Given the description of an element on the screen output the (x, y) to click on. 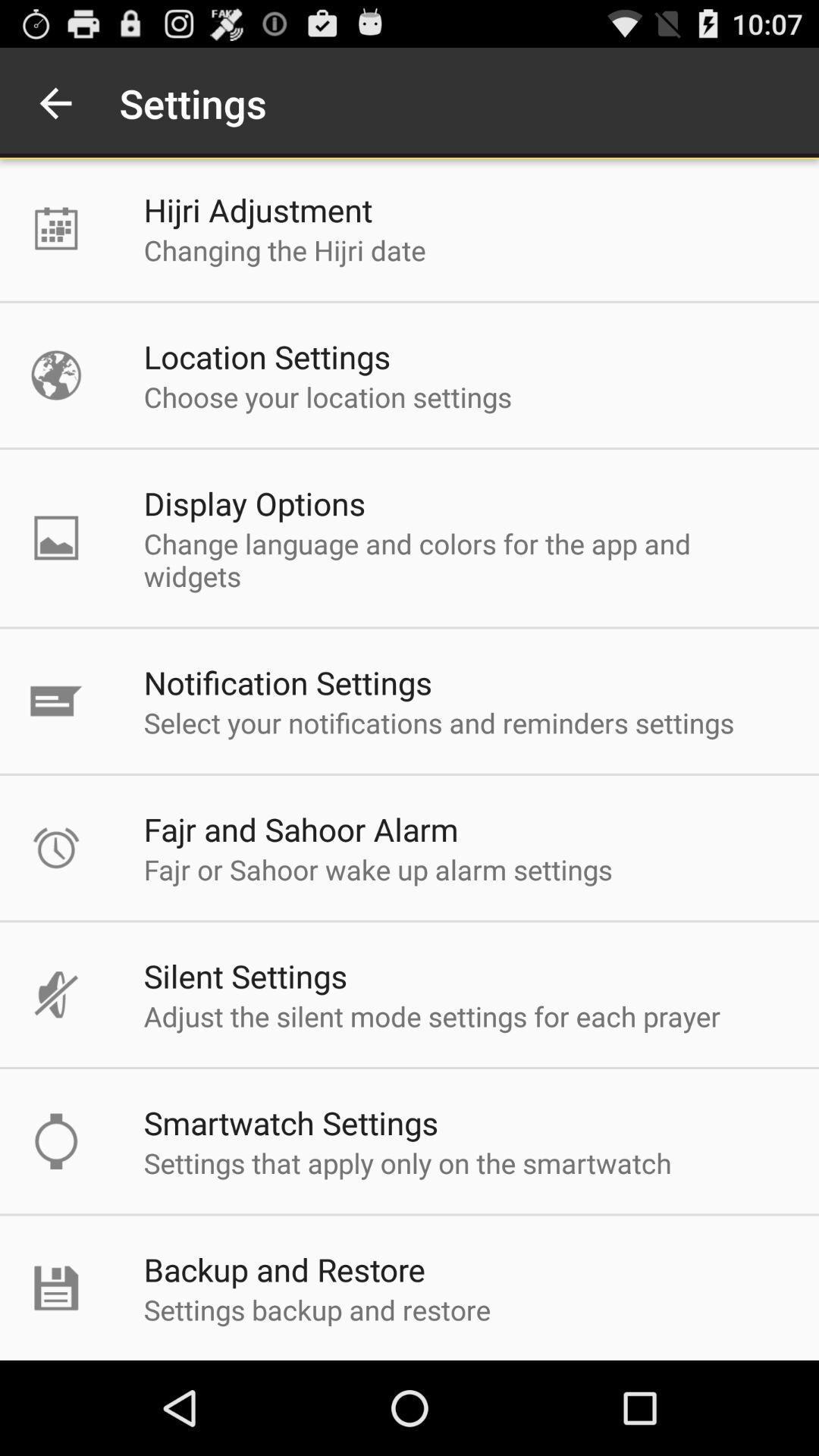
turn on the item above location settings app (284, 250)
